Given the description of an element on the screen output the (x, y) to click on. 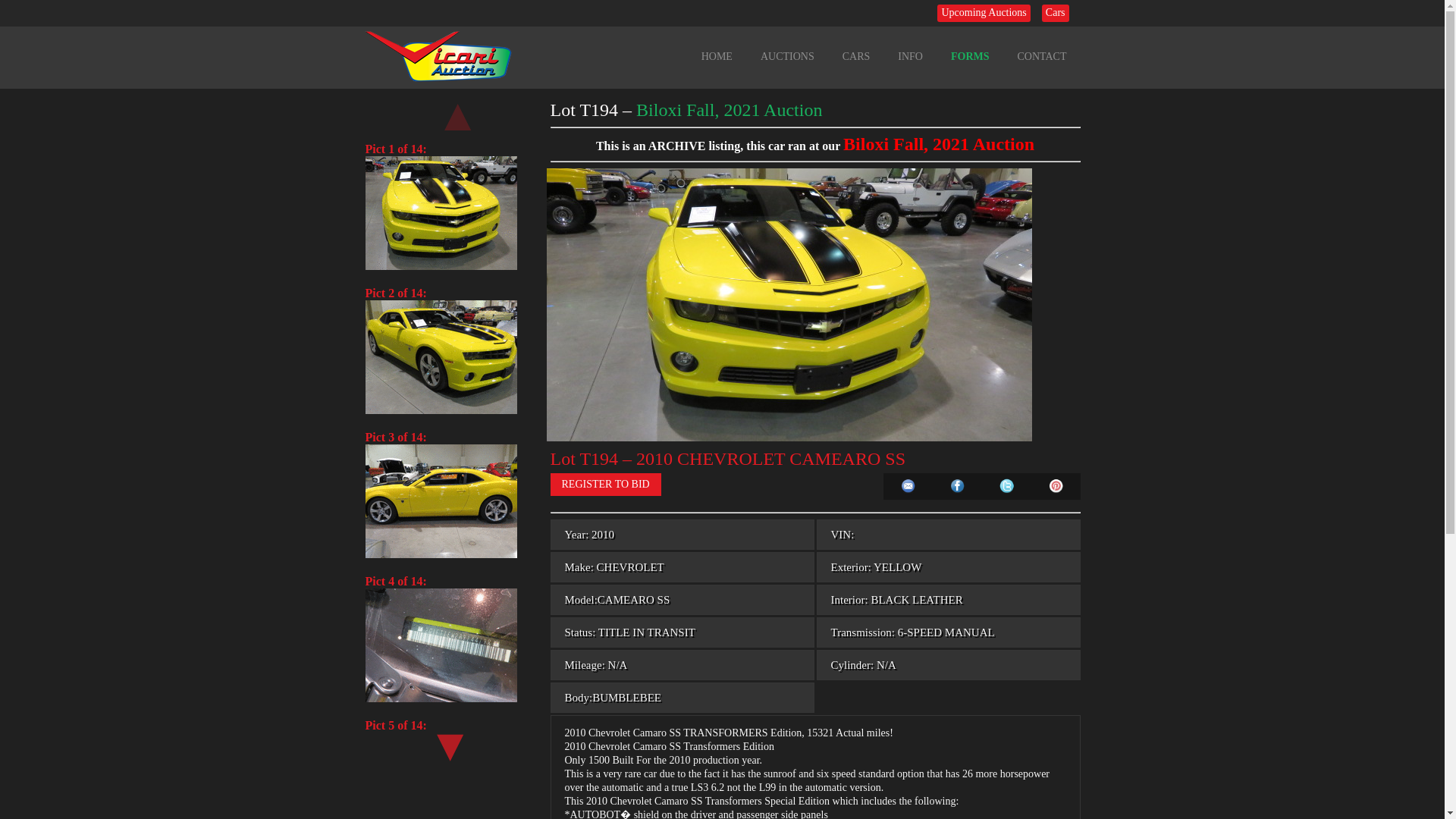
CONTACT (1042, 56)
INFO (909, 56)
Cars (1055, 13)
Biloxi Fall, 2021 Auction (729, 109)
Previous (454, 111)
Email (908, 486)
CARS (855, 56)
Twitter (1006, 486)
AUCTIONS (787, 56)
REGISTER TO BID (605, 484)
Upcoming Auctions (983, 13)
FORMS (970, 56)
HOME (716, 56)
Next (446, 741)
Facebook (956, 486)
